Given the description of an element on the screen output the (x, y) to click on. 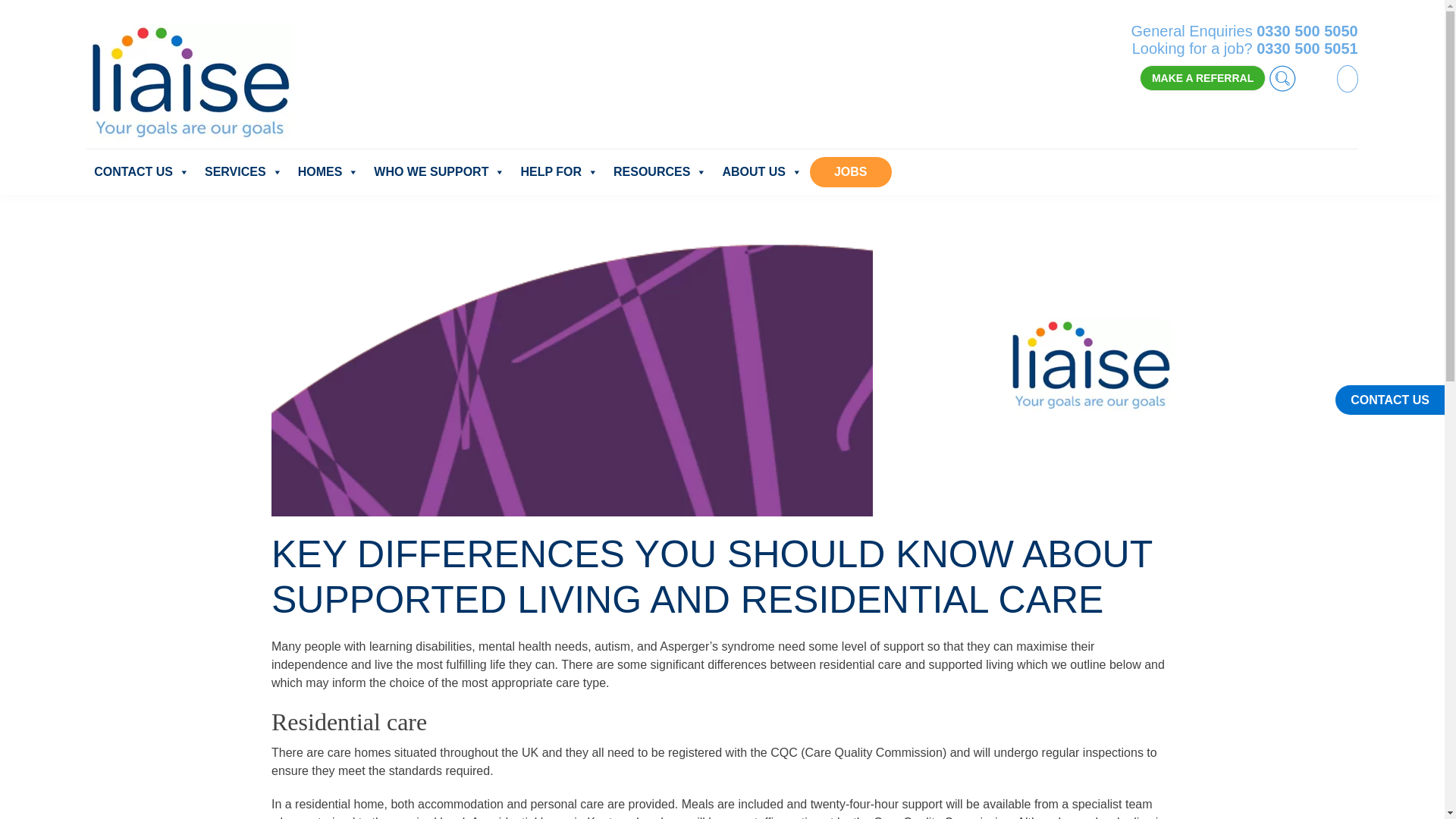
Liaise Logo (1090, 364)
0330 500 5051 (1306, 48)
Search (1284, 77)
MAKE A REFERRAL (1202, 77)
SERVICES (242, 172)
Easy Read (1318, 77)
RESOURCES (659, 172)
HOMES (327, 172)
WHO WE SUPPORT (439, 172)
0330 500 5050 (1306, 30)
CONTACT US (140, 172)
HELP FOR (558, 172)
Make a referral (1202, 77)
